Given the description of an element on the screen output the (x, y) to click on. 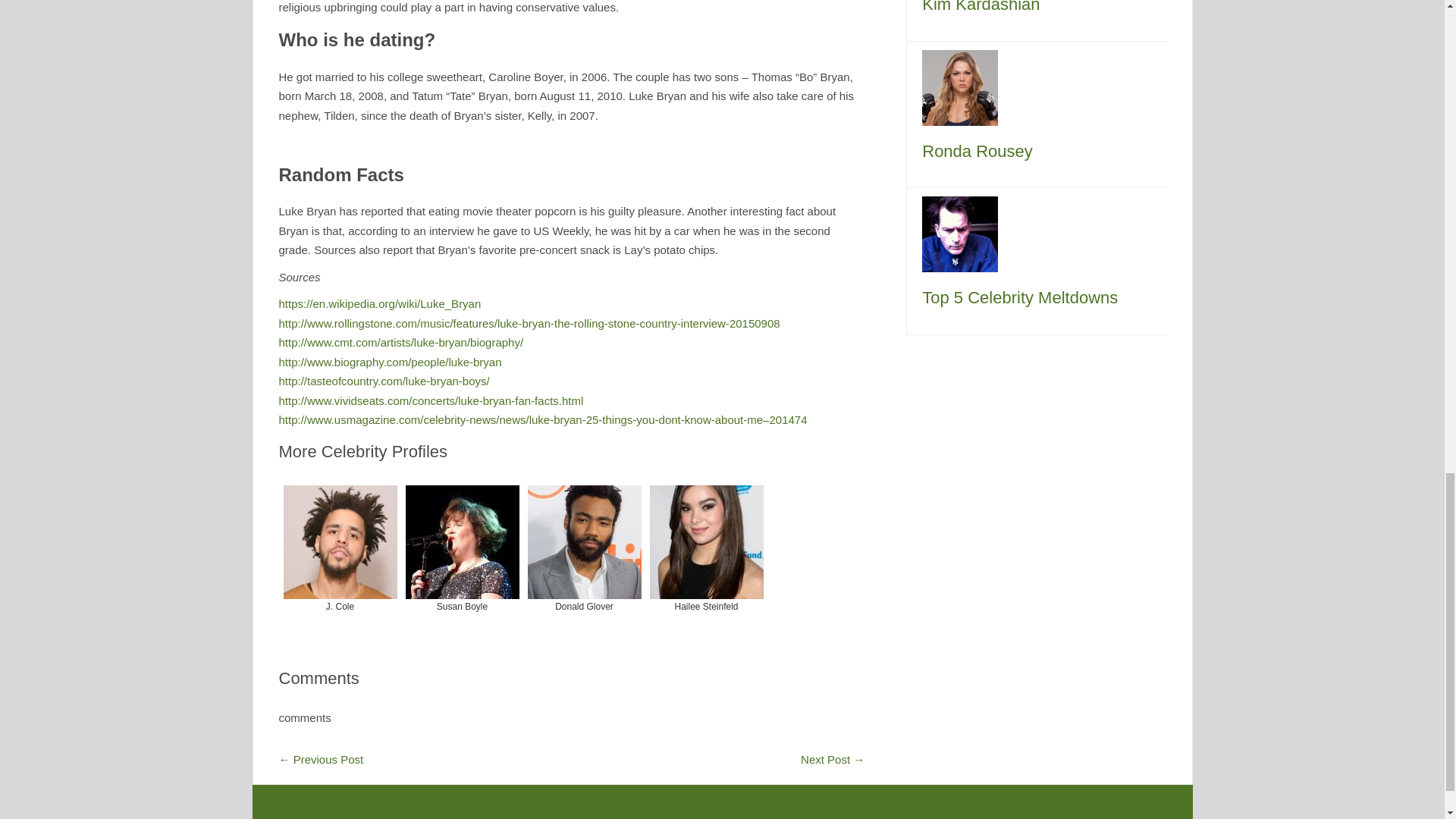
Kim Kardashian (980, 6)
